Given the description of an element on the screen output the (x, y) to click on. 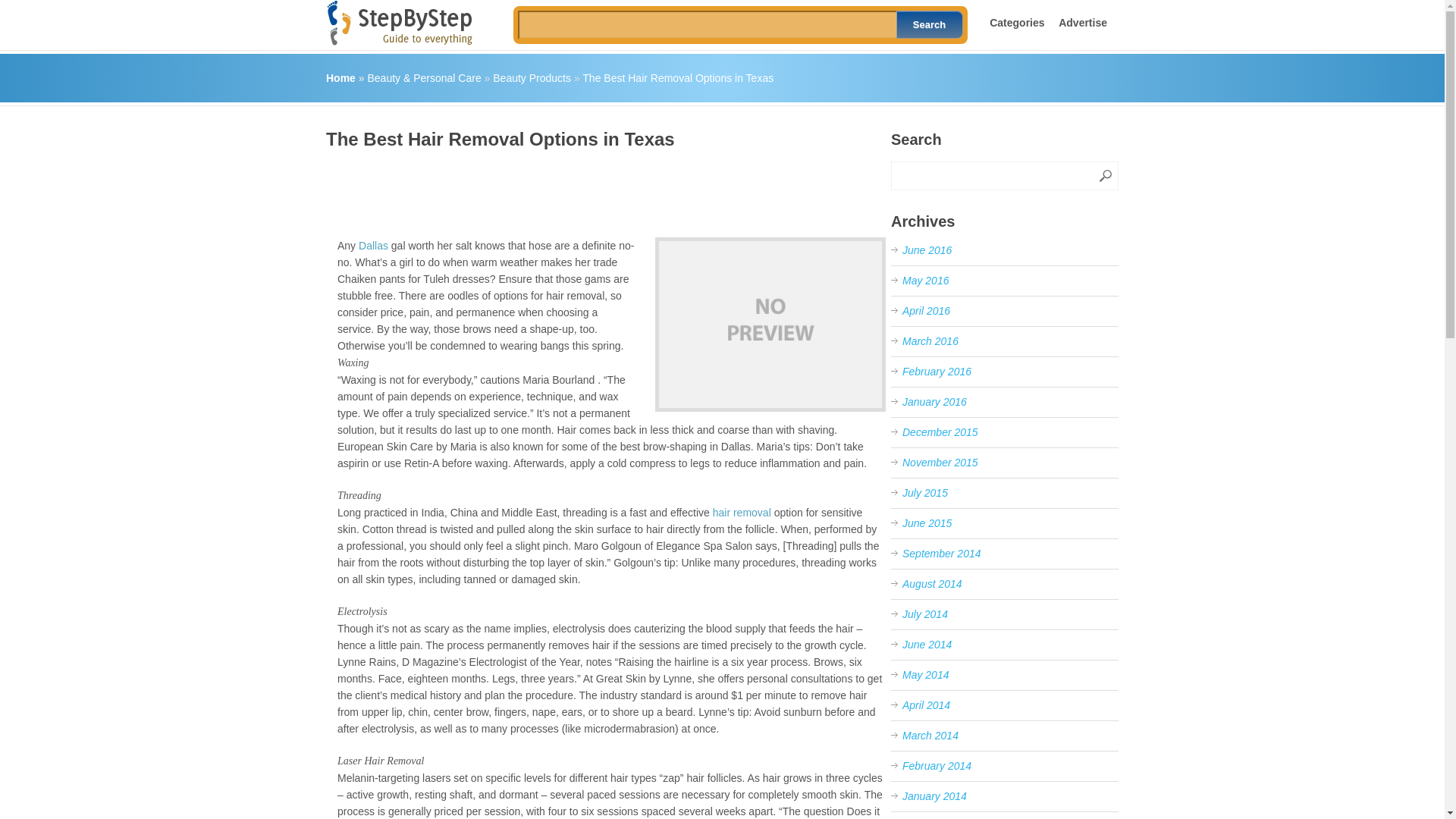
July 2015 (924, 492)
Search (929, 24)
hair removal (742, 512)
Categories (1016, 22)
September 2014 (941, 553)
Advertisement (601, 187)
The Best Hair Removal Options in Texas (770, 324)
June 2016 (927, 250)
Advertise (1082, 22)
The Best Hair Removal Options in Texas (677, 78)
Dallas (373, 245)
hair removal (742, 512)
January 2016 (934, 401)
View all posts in Beauty Products (531, 78)
Search (929, 24)
